Given the description of an element on the screen output the (x, y) to click on. 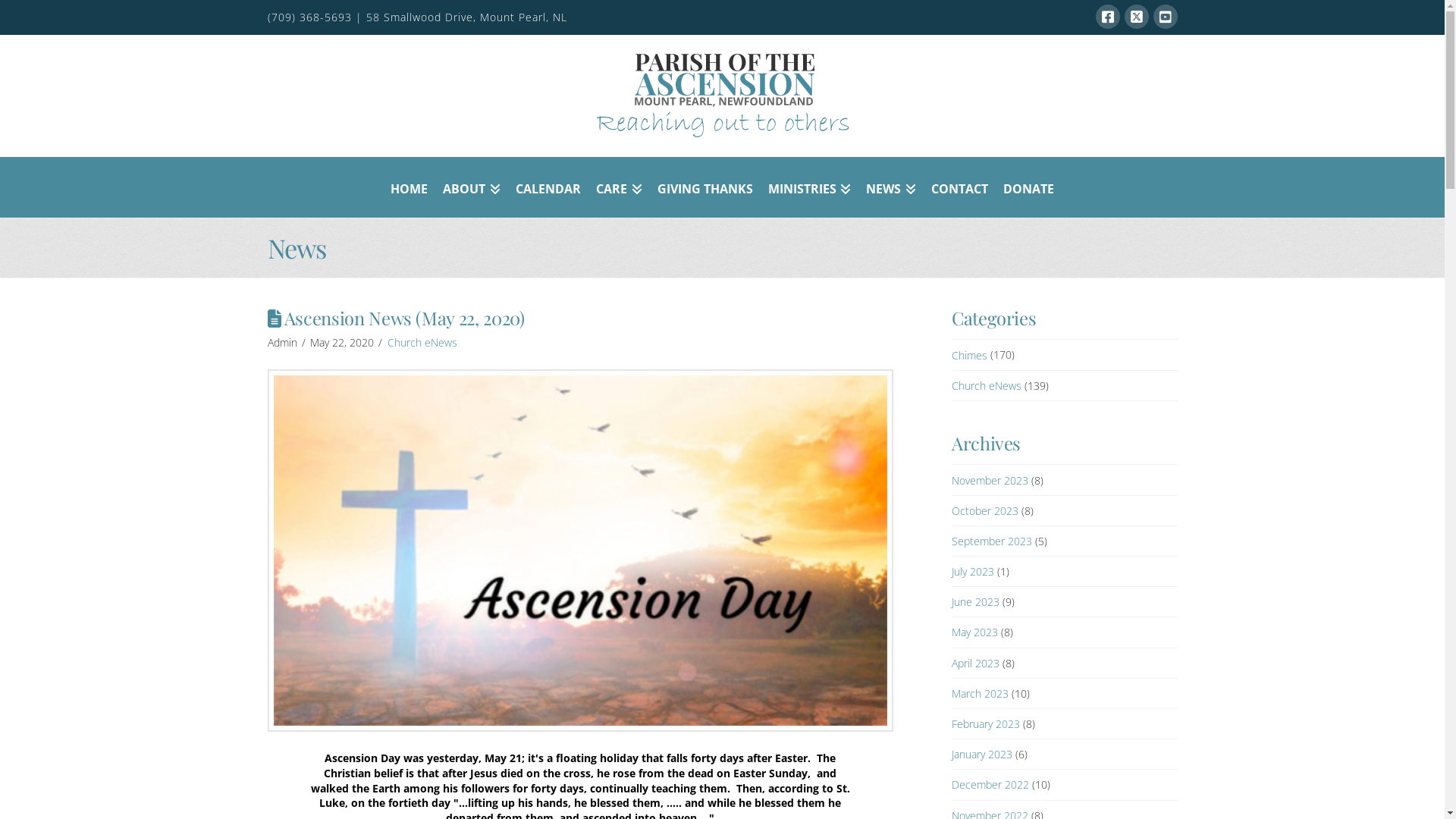
Facebook Element type: hover (1107, 16)
May 2023 Element type: text (974, 631)
April 2023 Element type: text (975, 662)
November 2023 Element type: text (989, 480)
October 2023 Element type: text (984, 510)
ABOUT Element type: text (471, 186)
Church eNews Element type: text (986, 385)
CARE Element type: text (618, 186)
DONATE Element type: text (1028, 186)
Church eNews Element type: text (422, 342)
June 2023 Element type: text (975, 601)
X / Twitter Element type: hover (1135, 16)
January 2023 Element type: text (981, 753)
CALENDAR Element type: text (548, 186)
CONTACT Element type: text (959, 186)
September 2023 Element type: text (991, 540)
March 2023 Element type: text (979, 693)
NEWS Element type: text (890, 186)
YouTube Element type: hover (1164, 16)
February 2023 Element type: text (985, 723)
GIVING THANKS Element type: text (704, 186)
HOME Element type: text (408, 186)
July 2023 Element type: text (972, 571)
Chimes Element type: text (969, 355)
December 2022 Element type: text (990, 784)
MINISTRIES Element type: text (808, 186)
